Given the description of an element on the screen output the (x, y) to click on. 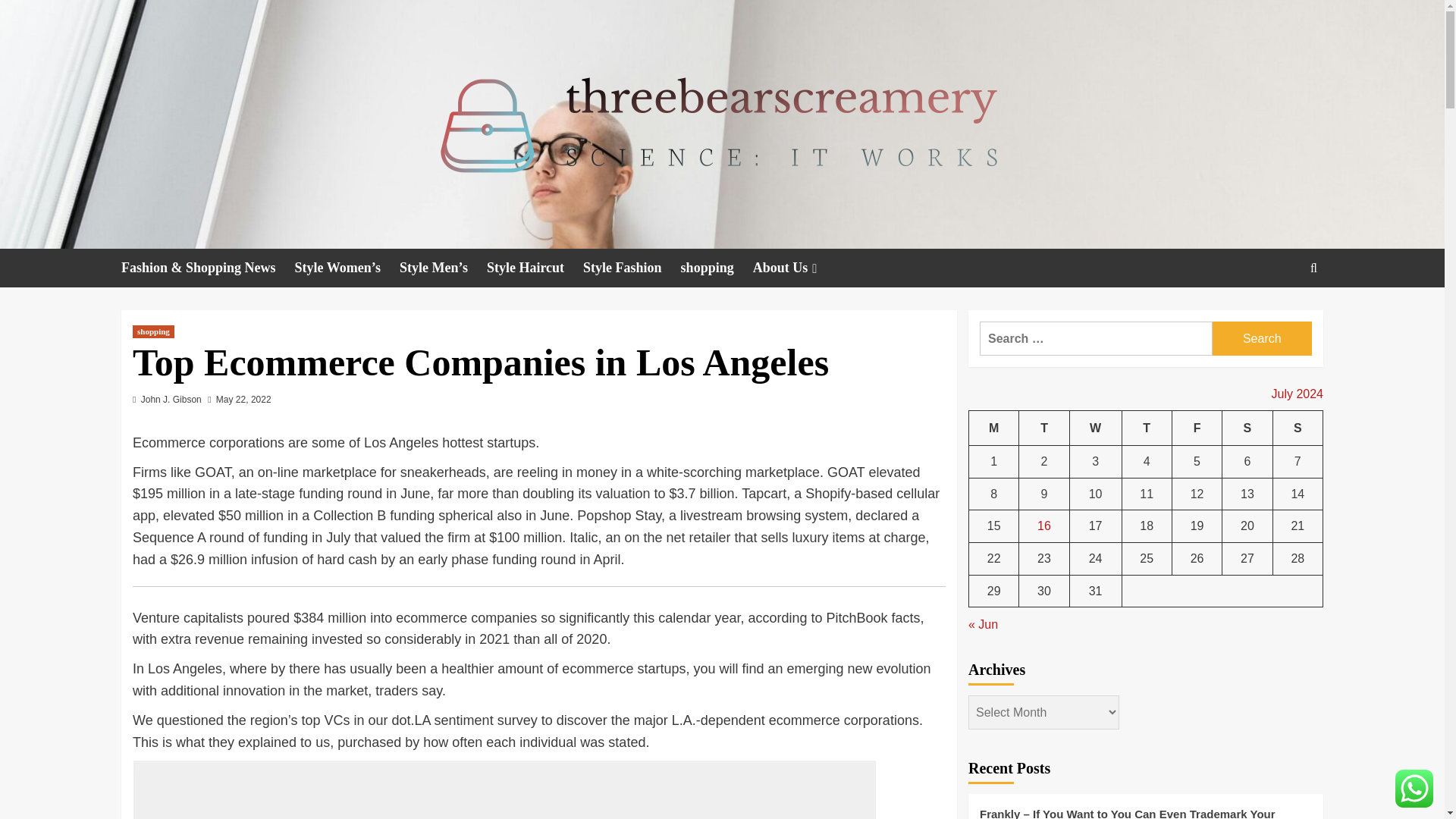
Saturday (1247, 427)
Monday (994, 427)
Sunday (1297, 427)
shopping (716, 267)
Search (1278, 314)
Friday (1196, 427)
About Us (796, 267)
Style Haircut (534, 267)
John J. Gibson (171, 398)
Style Fashion (632, 267)
May 22, 2022 (242, 398)
Wednesday (1094, 427)
Tuesday (1043, 427)
Thursday (1146, 427)
shopping (153, 331)
